Given the description of an element on the screen output the (x, y) to click on. 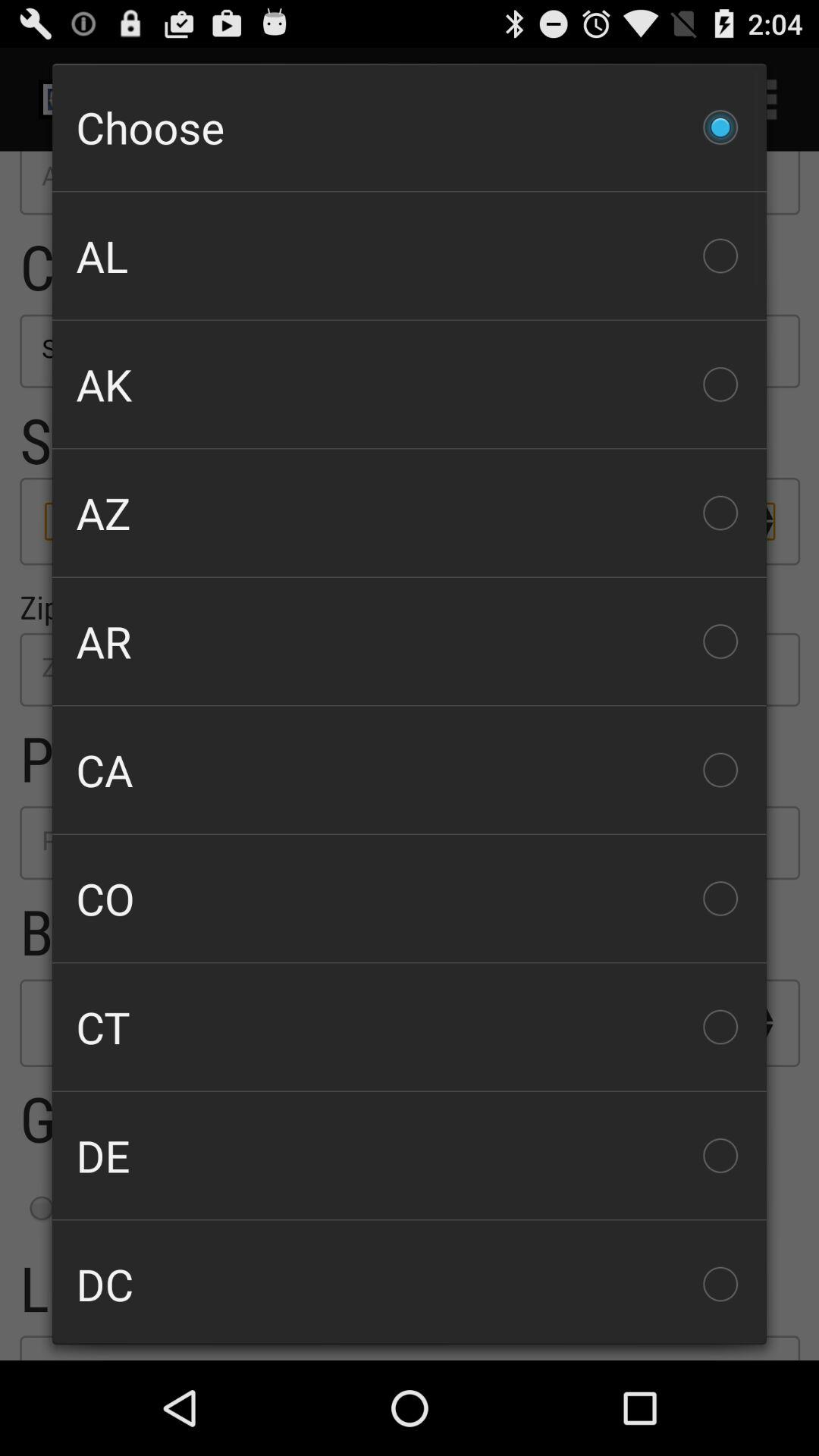
choose az checkbox (409, 512)
